Given the description of an element on the screen output the (x, y) to click on. 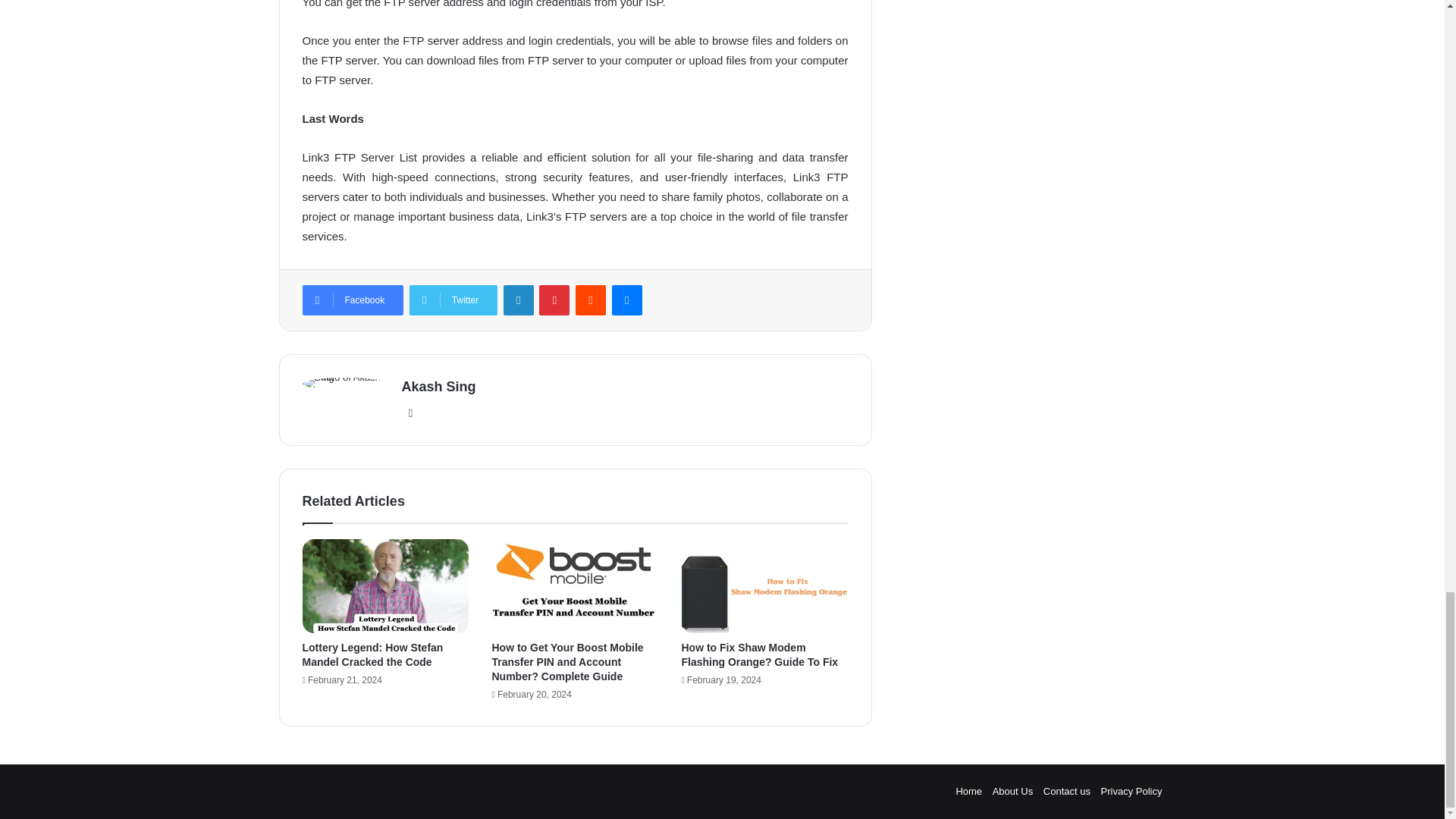
Akash Sing (438, 386)
Pinterest (553, 300)
Lottery Legend: How Stefan Mandel Cracked the Code (371, 654)
Facebook (352, 300)
Twitter (453, 300)
Reddit (590, 300)
Reddit (590, 300)
Twitter (453, 300)
Website (410, 413)
LinkedIn (518, 300)
